Given the description of an element on the screen output the (x, y) to click on. 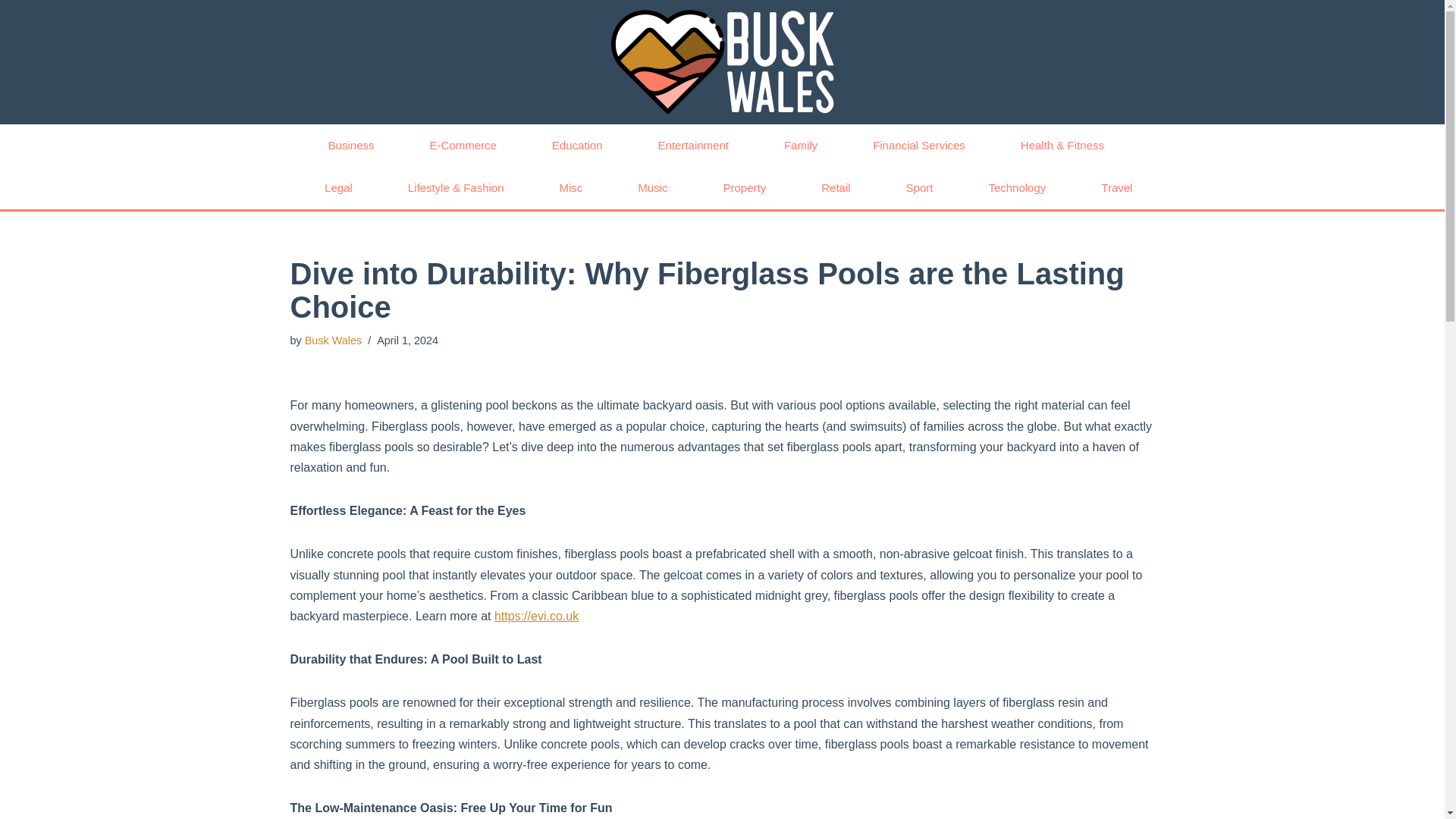
E-Commerce (462, 145)
Busk Wales (332, 340)
Technology (1016, 188)
Property (744, 188)
Misc (571, 188)
Financial Services (918, 145)
Music (652, 188)
Entertainment (693, 145)
Travel (1116, 188)
Skip to content (11, 31)
Retail (835, 188)
Legal (338, 188)
Posts by Busk Wales (332, 340)
Sport (920, 188)
Family (800, 145)
